Given the description of an element on the screen output the (x, y) to click on. 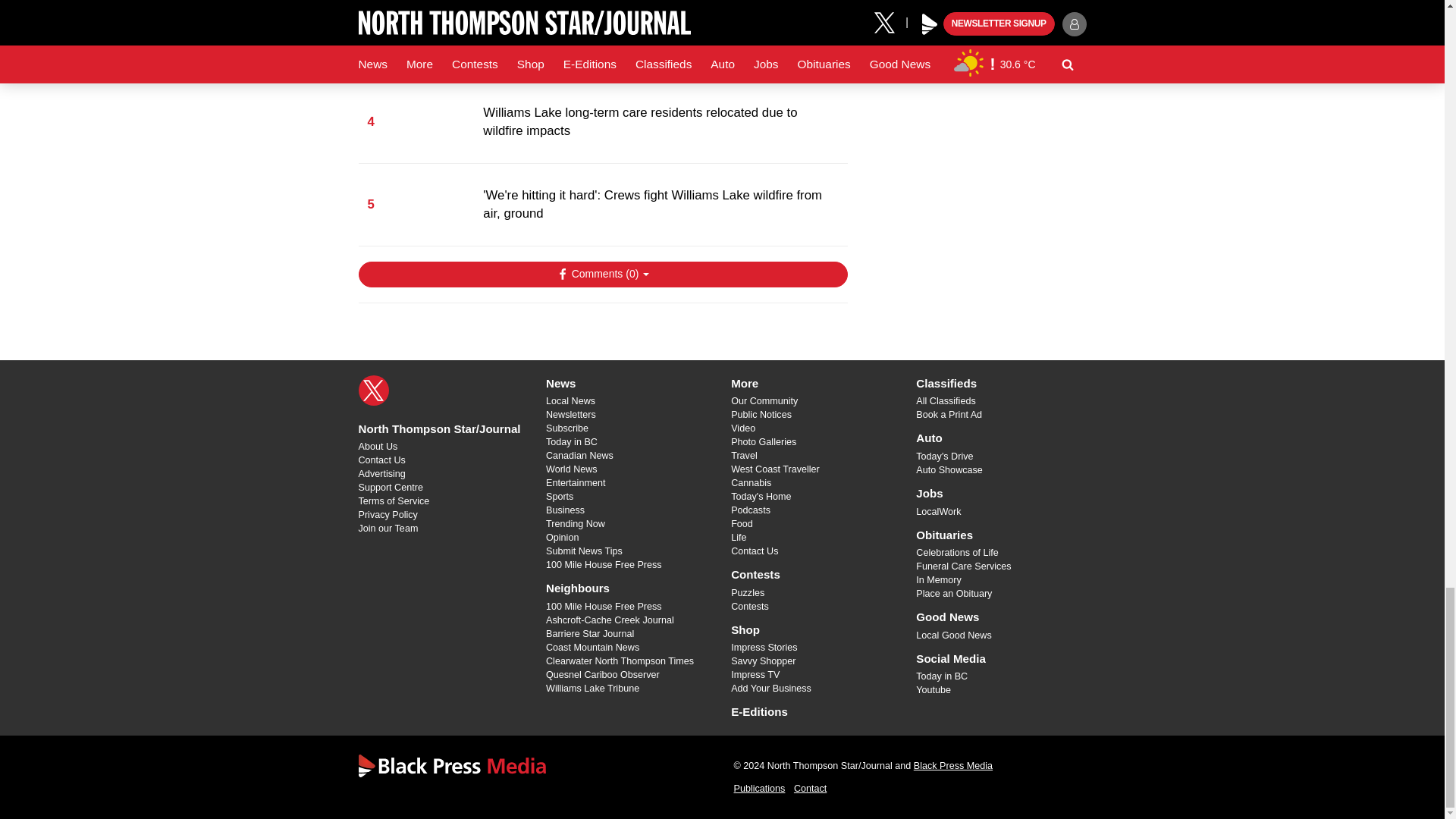
X (373, 390)
Show Comments (602, 274)
